Given the description of an element on the screen output the (x, y) to click on. 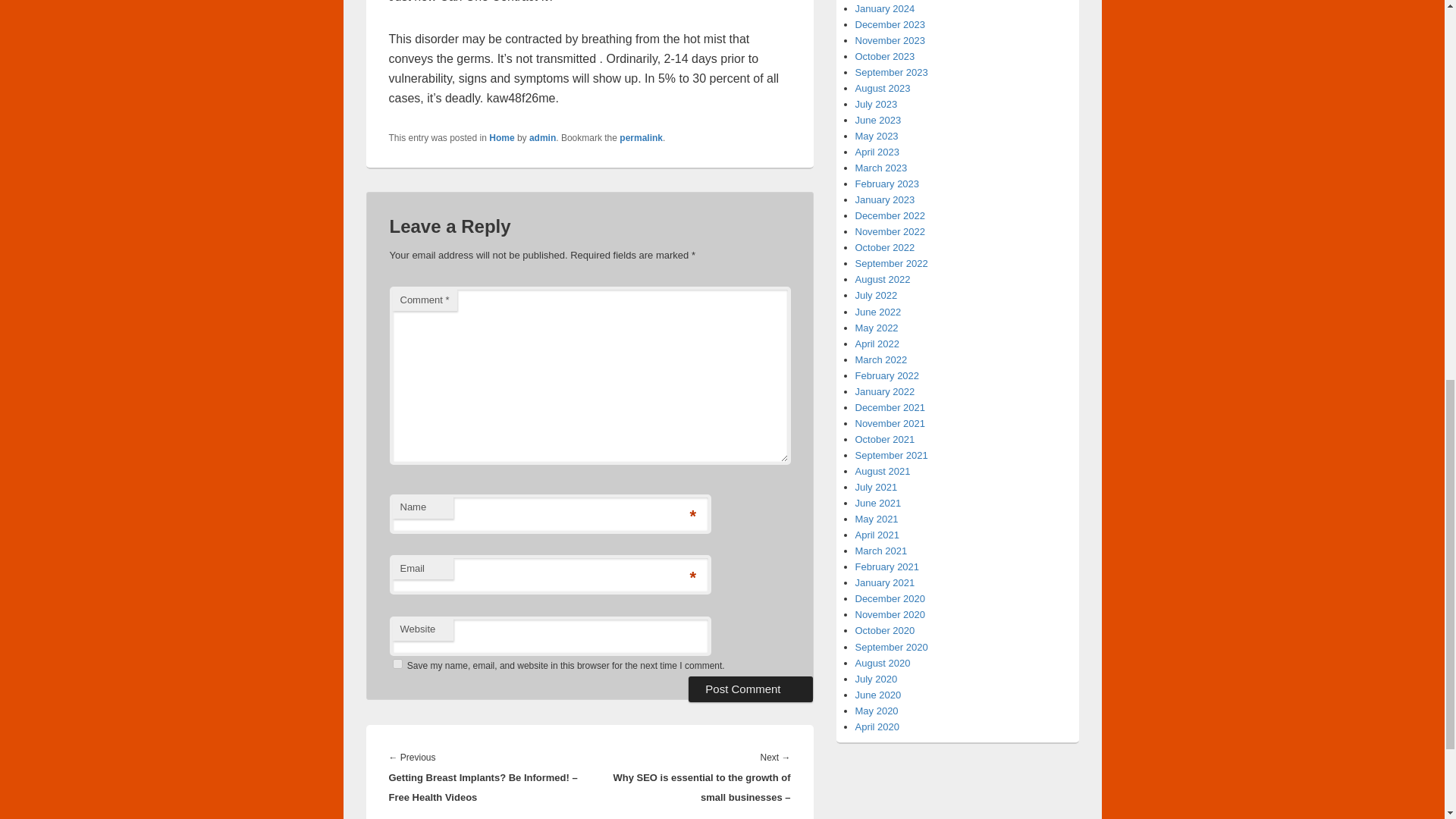
Post Comment (750, 688)
yes (398, 664)
admin (542, 137)
Home (501, 137)
Post Comment (750, 688)
permalink (641, 137)
